Given the description of an element on the screen output the (x, y) to click on. 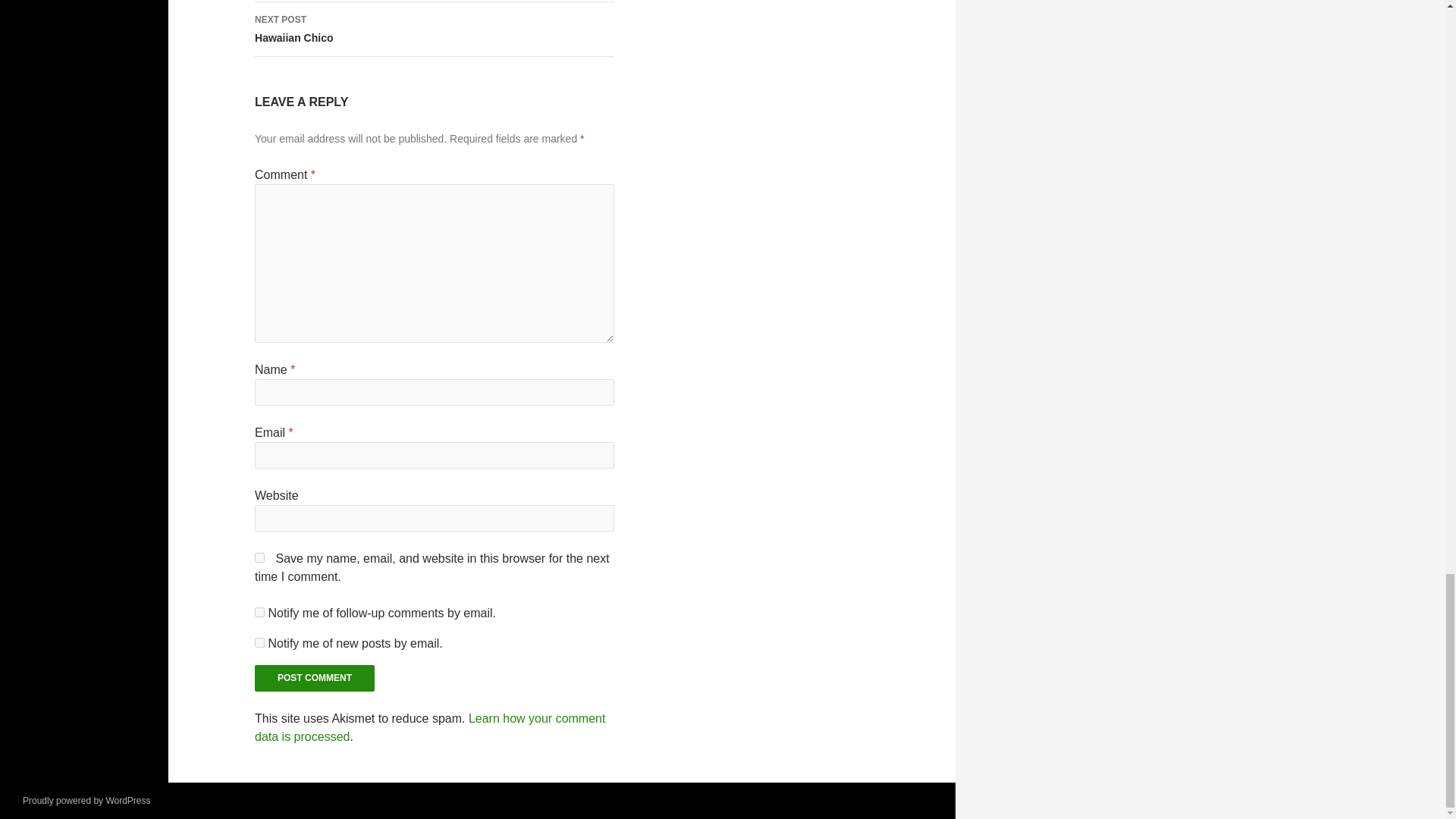
Proudly powered by WordPress (87, 800)
subscribe (259, 612)
Post Comment (434, 29)
Post Comment (429, 726)
subscribe (314, 678)
yes (314, 678)
